Given the description of an element on the screen output the (x, y) to click on. 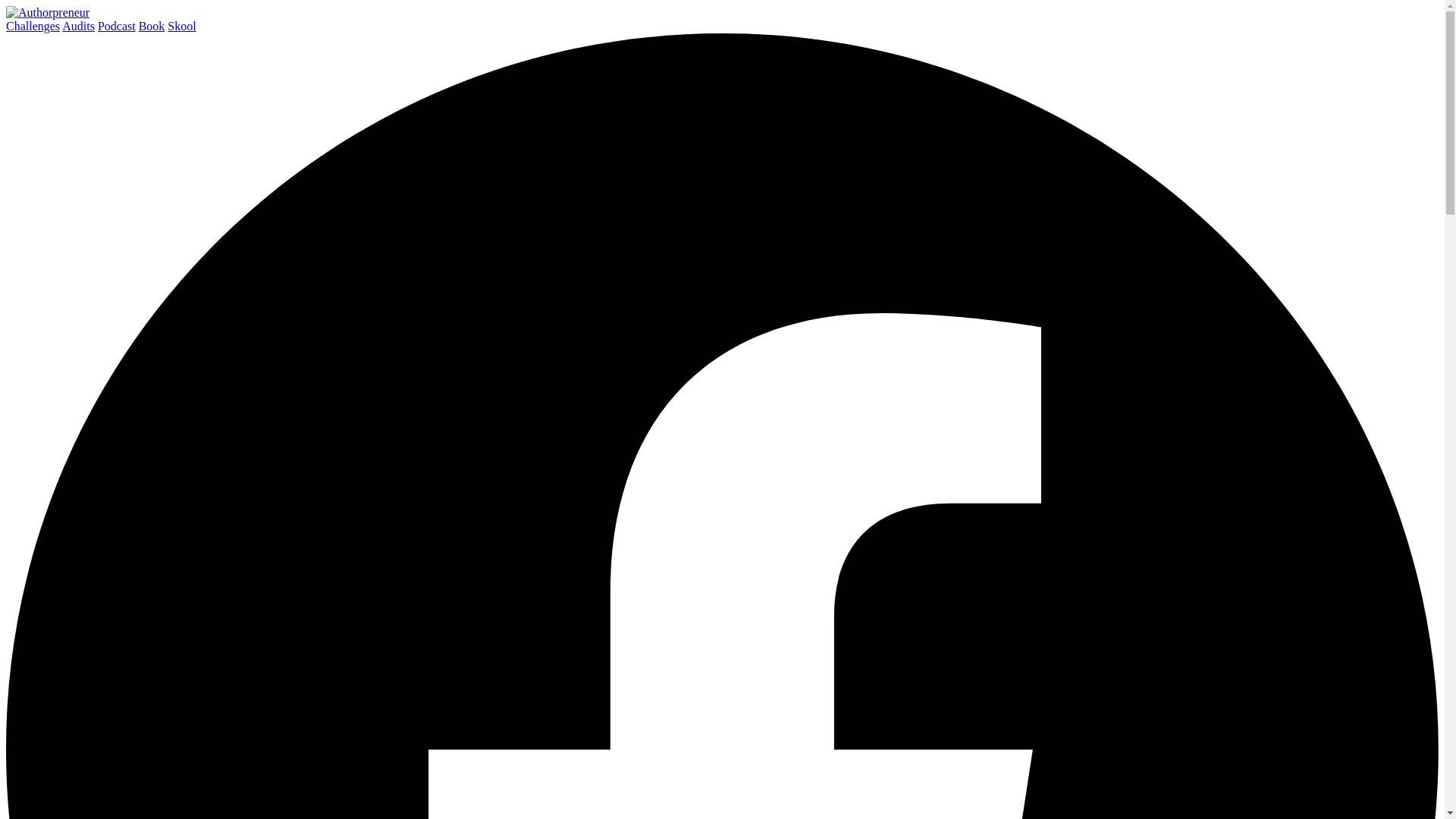
Podcast (116, 25)
Audits (78, 25)
Book (151, 25)
Challenges (32, 25)
Skool (181, 25)
